Given the description of an element on the screen output the (x, y) to click on. 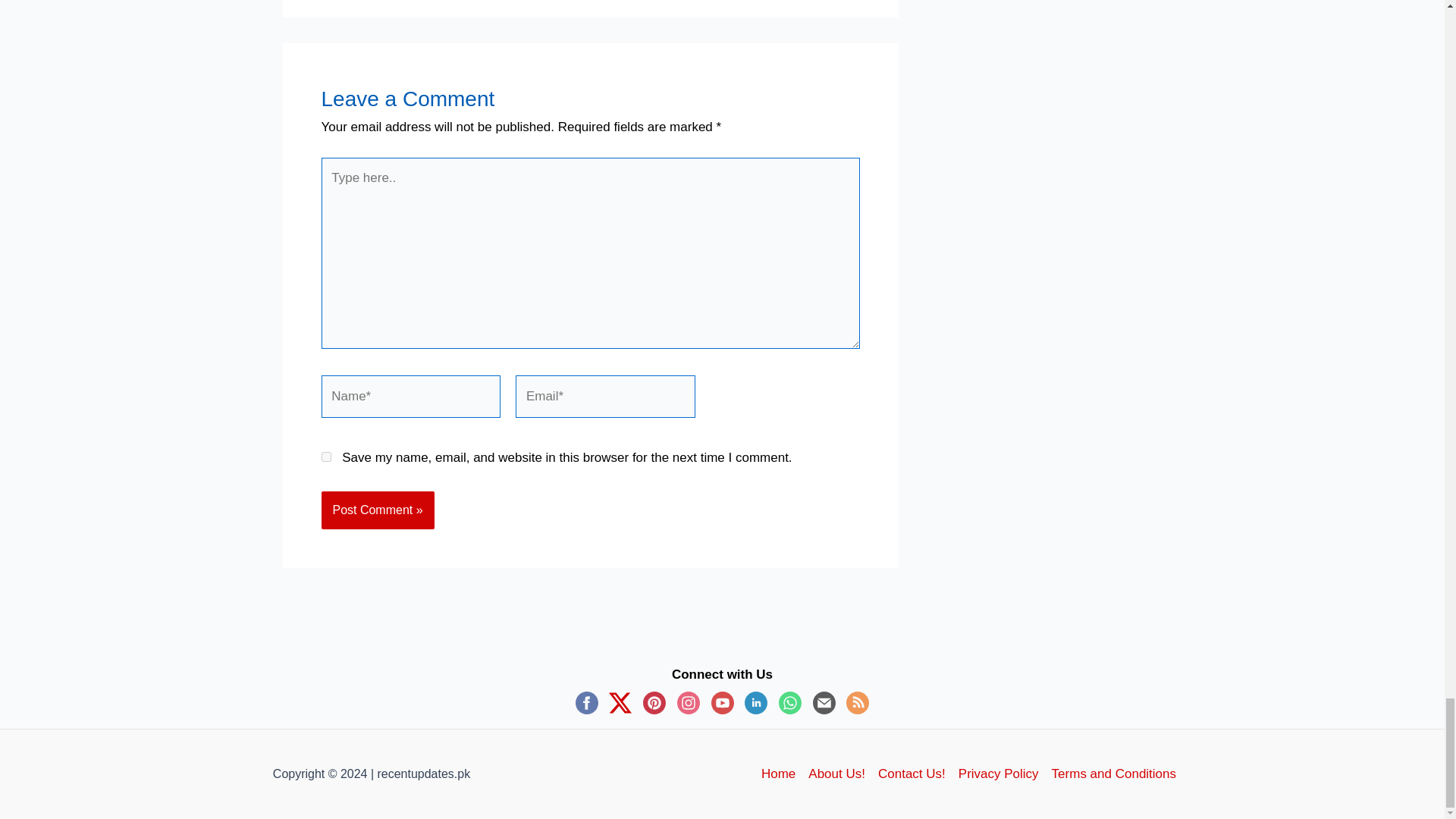
yes (326, 456)
